Given the description of an element on the screen output the (x, y) to click on. 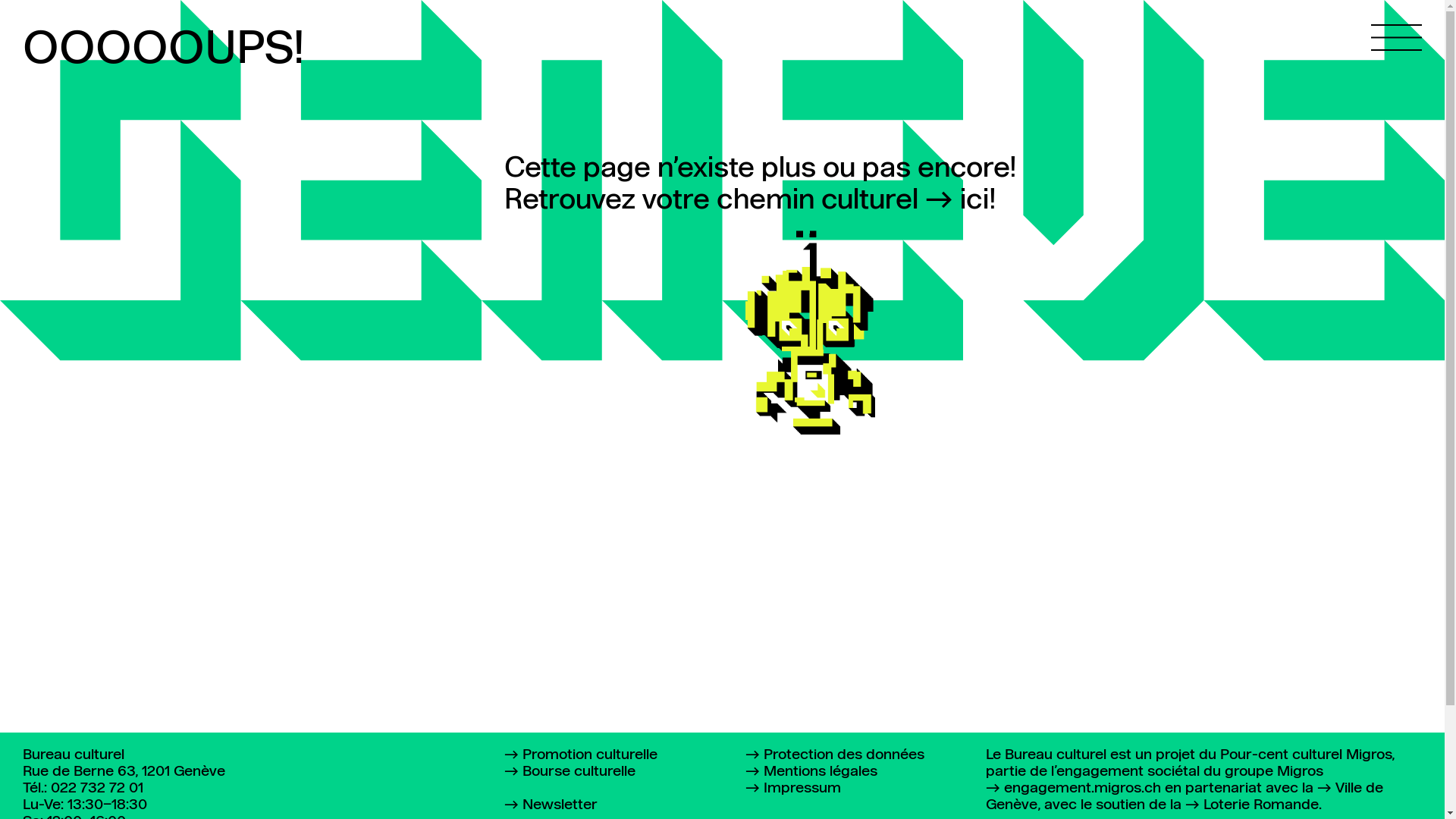
Loterie Romande Element type: text (1251, 804)
ici Element type: text (957, 200)
Promotion culturelle Element type: text (580, 754)
Newsletter Element type: text (550, 804)
Impressum Element type: text (792, 787)
022 732 72 01 Element type: text (96, 787)
022 732 72 01 Element type: text (1335, 780)
engagement.migros.ch Element type: text (1073, 787)
Bourse culturelle Element type: text (569, 771)
